Given the description of an element on the screen output the (x, y) to click on. 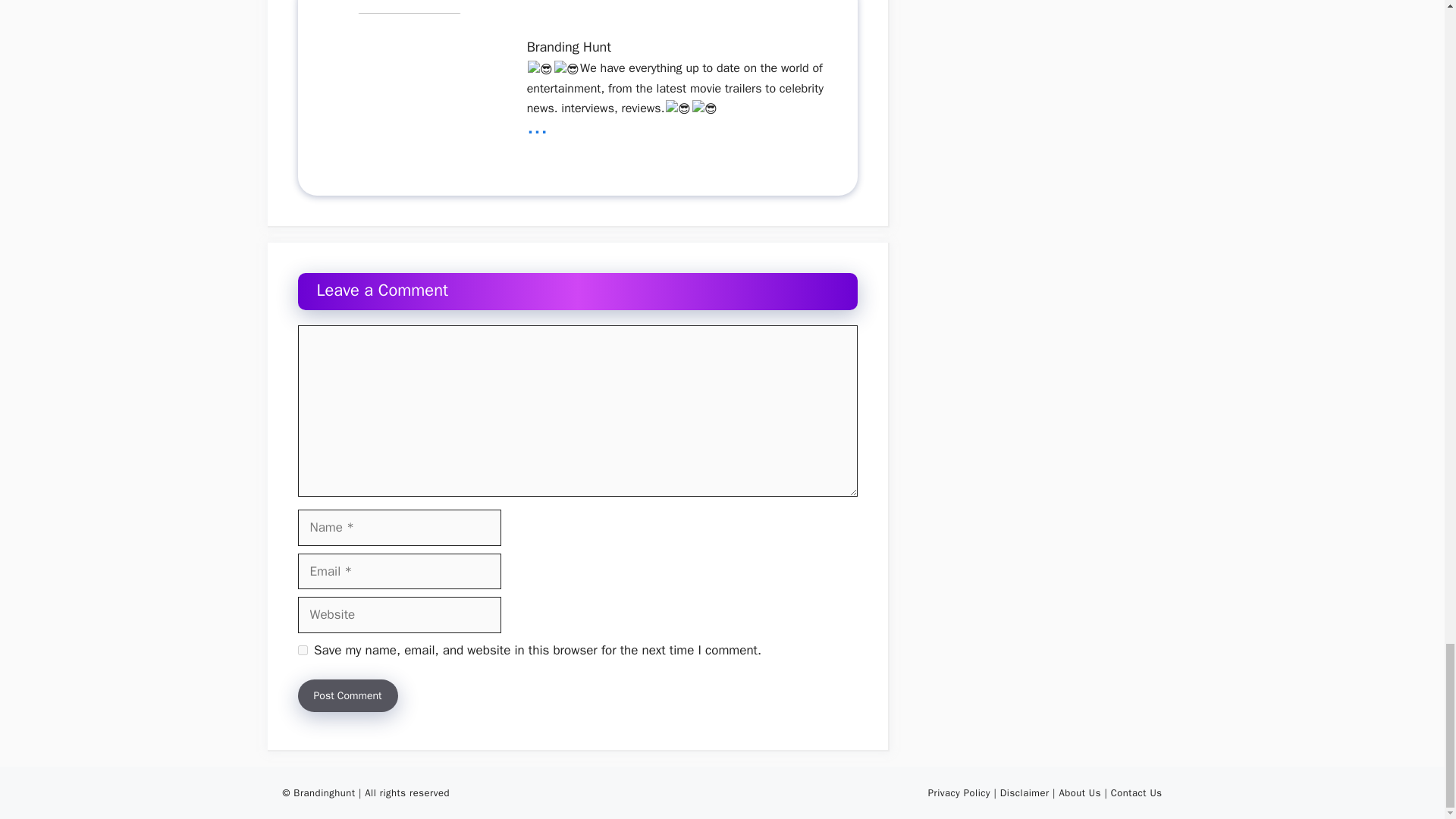
yes (302, 650)
Post Comment (347, 695)
